Given the description of an element on the screen output the (x, y) to click on. 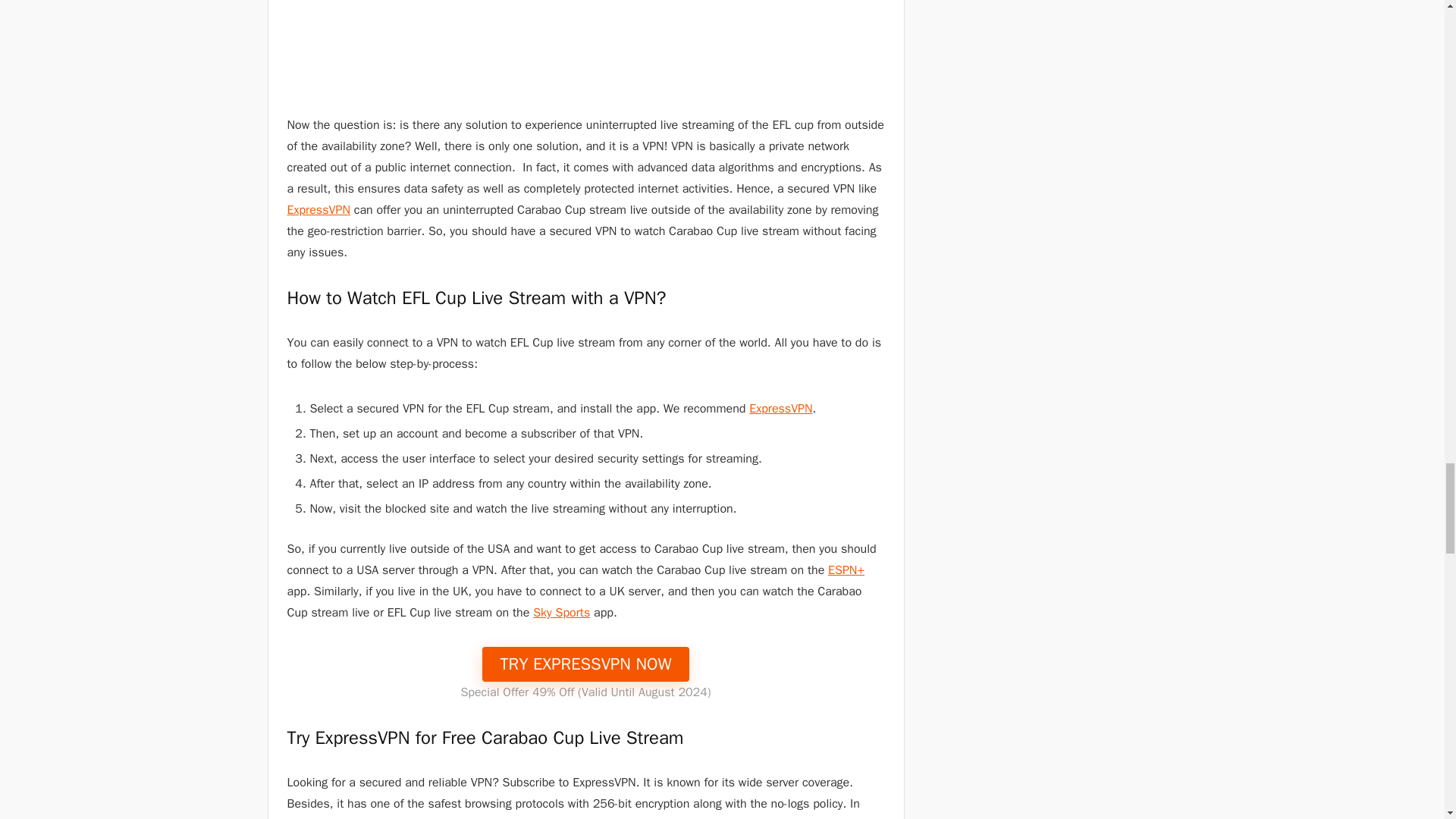
ExpressVPN (317, 209)
ExpressVPN (780, 408)
efl cup streaming (584, 45)
TRY EXPRESSVPN NOW (585, 664)
Sky Sports (560, 612)
